Given the description of an element on the screen output the (x, y) to click on. 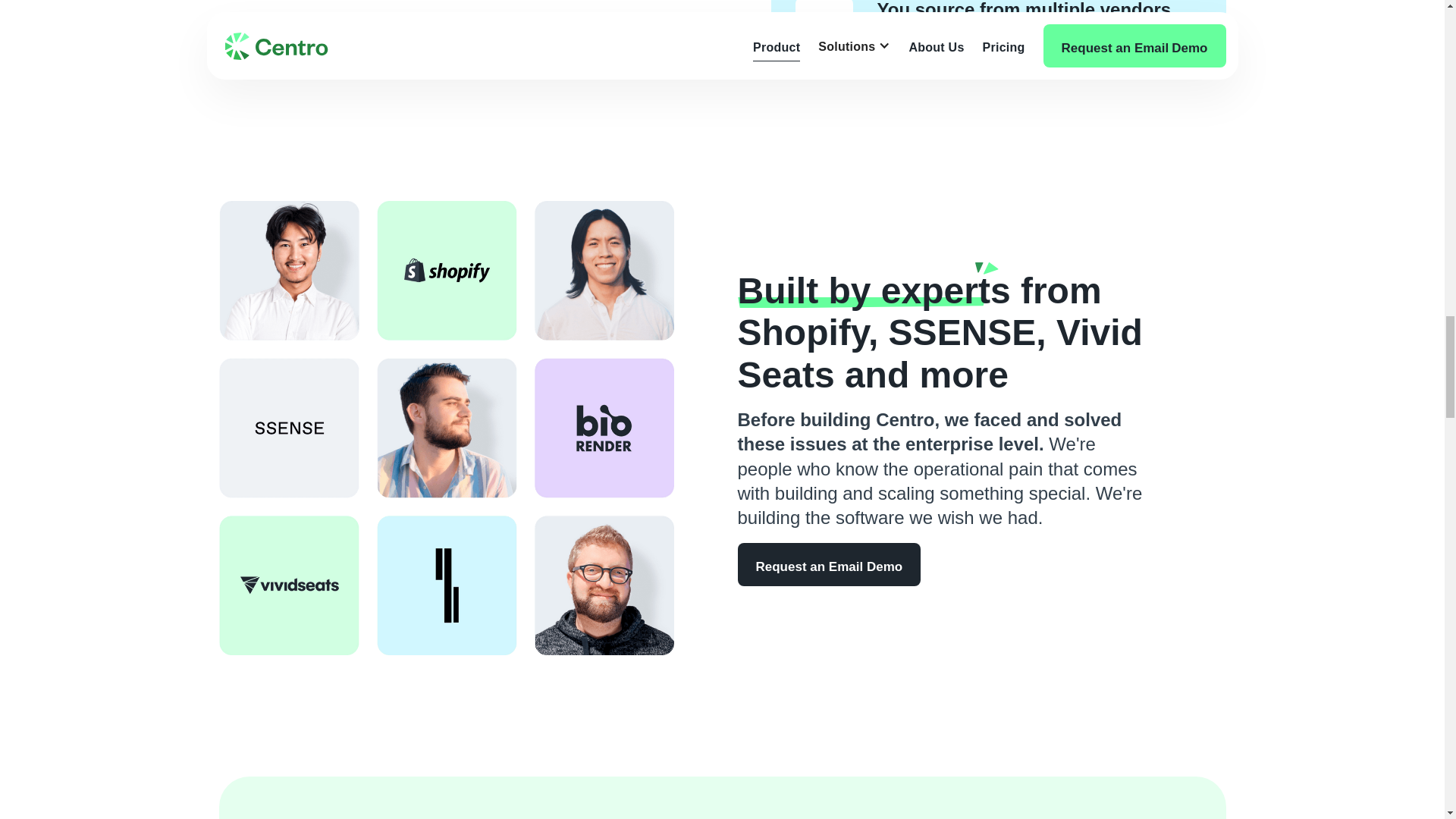
Request an Email Demo (828, 564)
Request an Email Demo (388, 36)
